Given the description of an element on the screen output the (x, y) to click on. 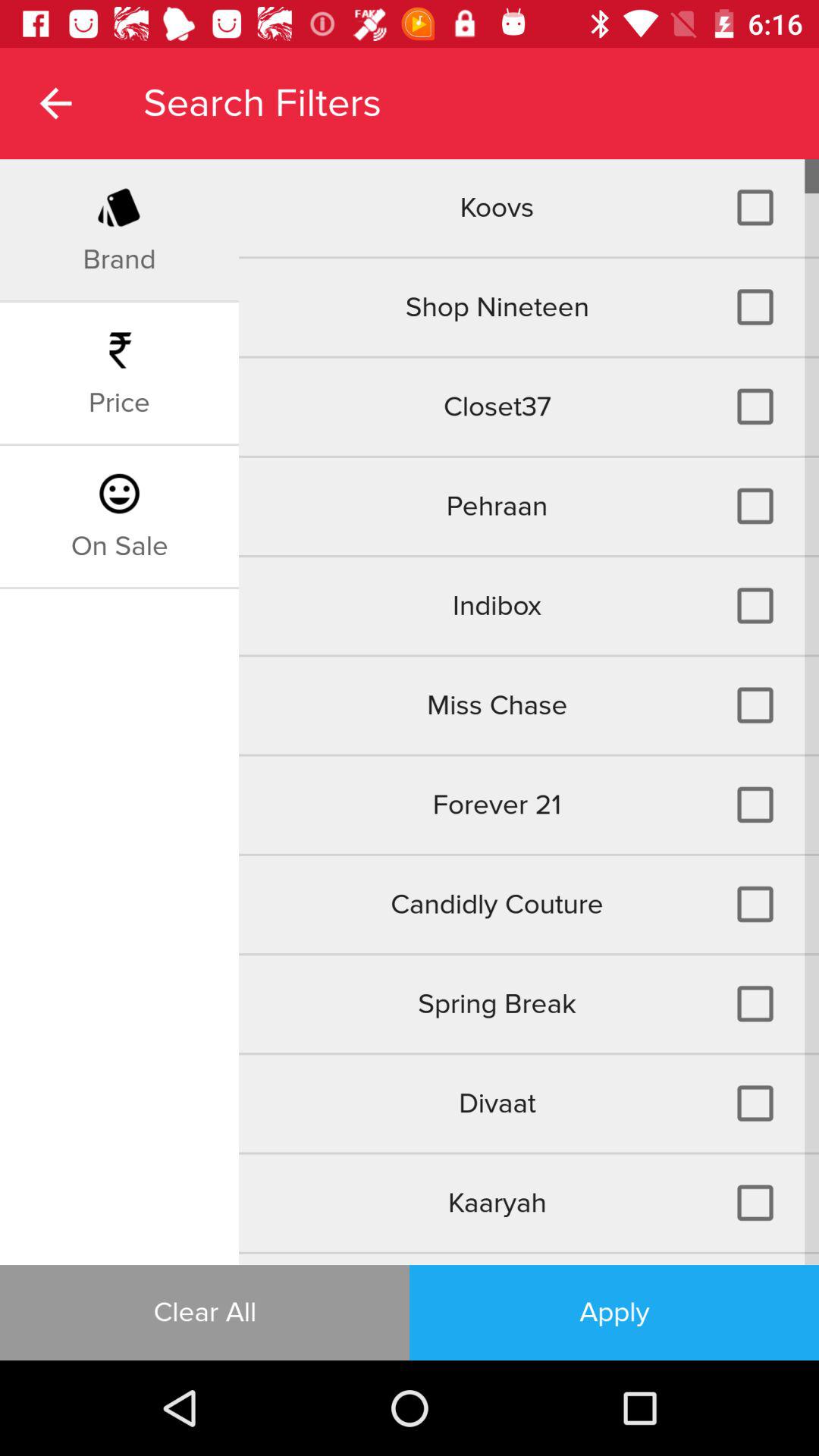
launch icon next to brand icon (528, 207)
